Given the description of an element on the screen output the (x, y) to click on. 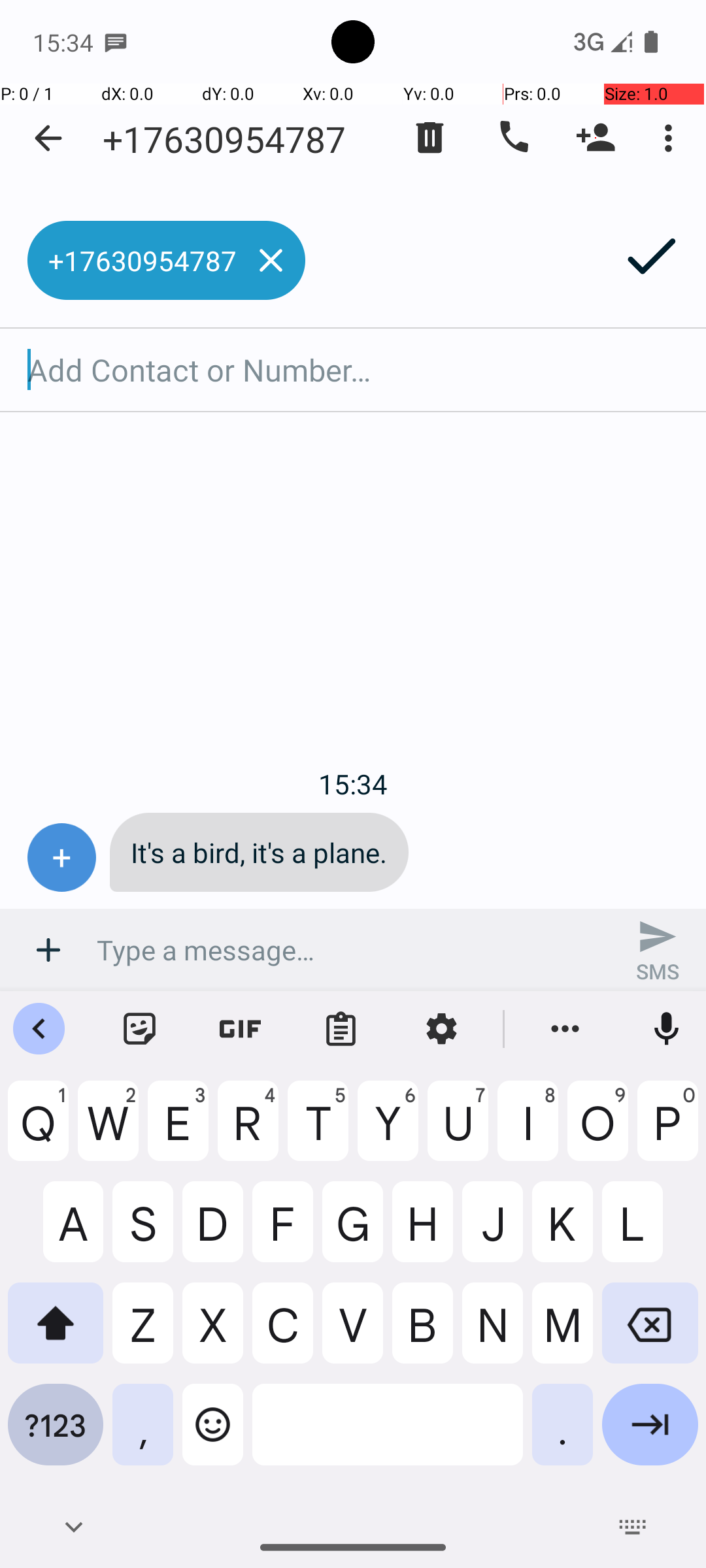
+17630954787 Element type: android.widget.TextView (223, 138)
Add Contact or Number… Element type: android.widget.AutoCompleteTextView (352, 369)
It's a bird, it's a plane. Element type: android.widget.TextView (258, 851)
